Given the description of an element on the screen output the (x, y) to click on. 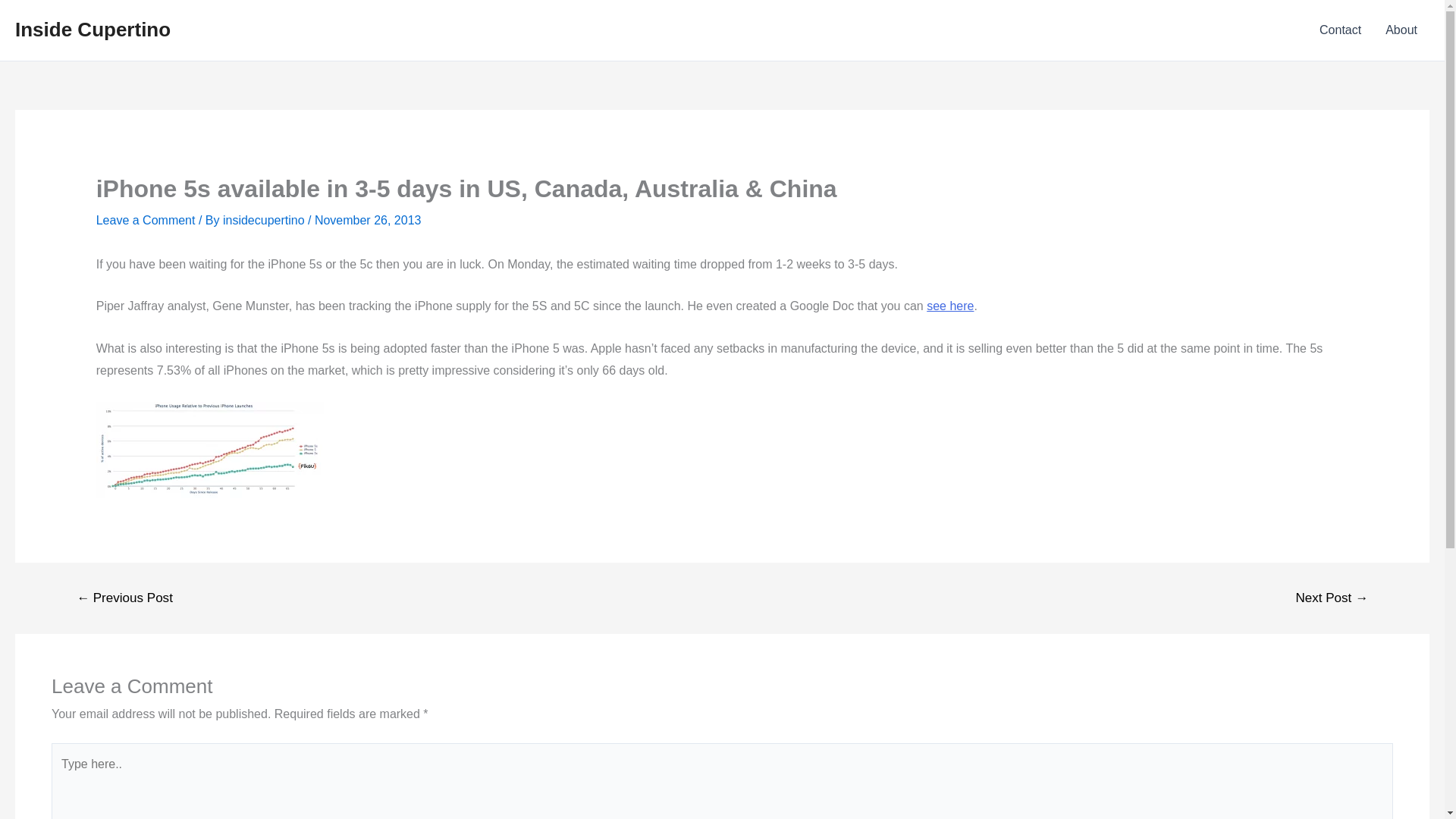
Inside Cupertino (92, 29)
Leave a Comment (145, 219)
About (1401, 30)
see here (950, 305)
Contact (1340, 30)
View all posts by insidecupertino (264, 219)
insidecupertino (264, 219)
iPhone 5s 5c avalability (950, 305)
